Given the description of an element on the screen output the (x, y) to click on. 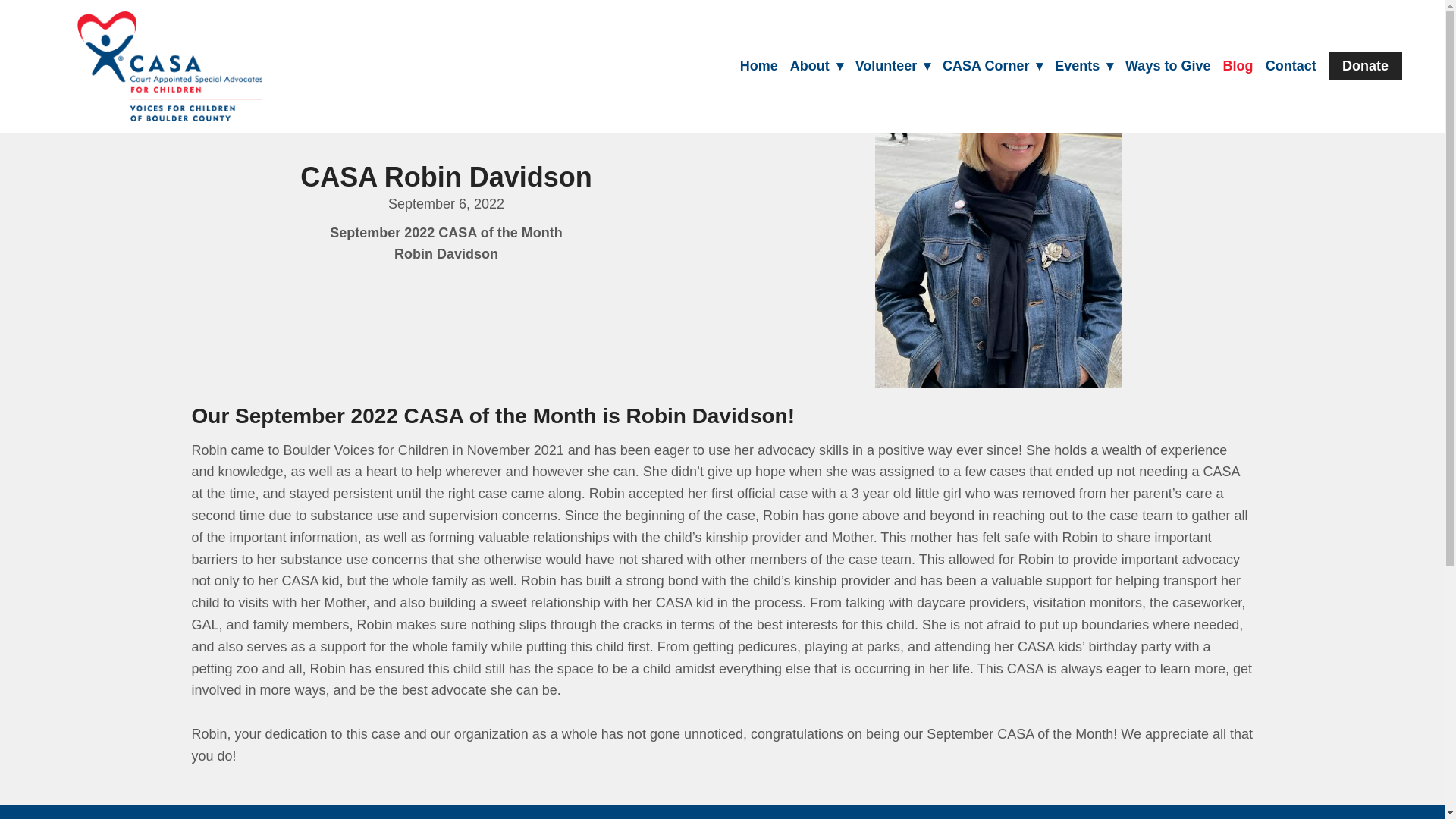
Home (758, 66)
Donate (1364, 66)
Ways to Give (1167, 66)
Voices for Children, CASA of Boulder County (169, 66)
Contact (1290, 66)
Blog (1238, 66)
